Given the description of an element on the screen output the (x, y) to click on. 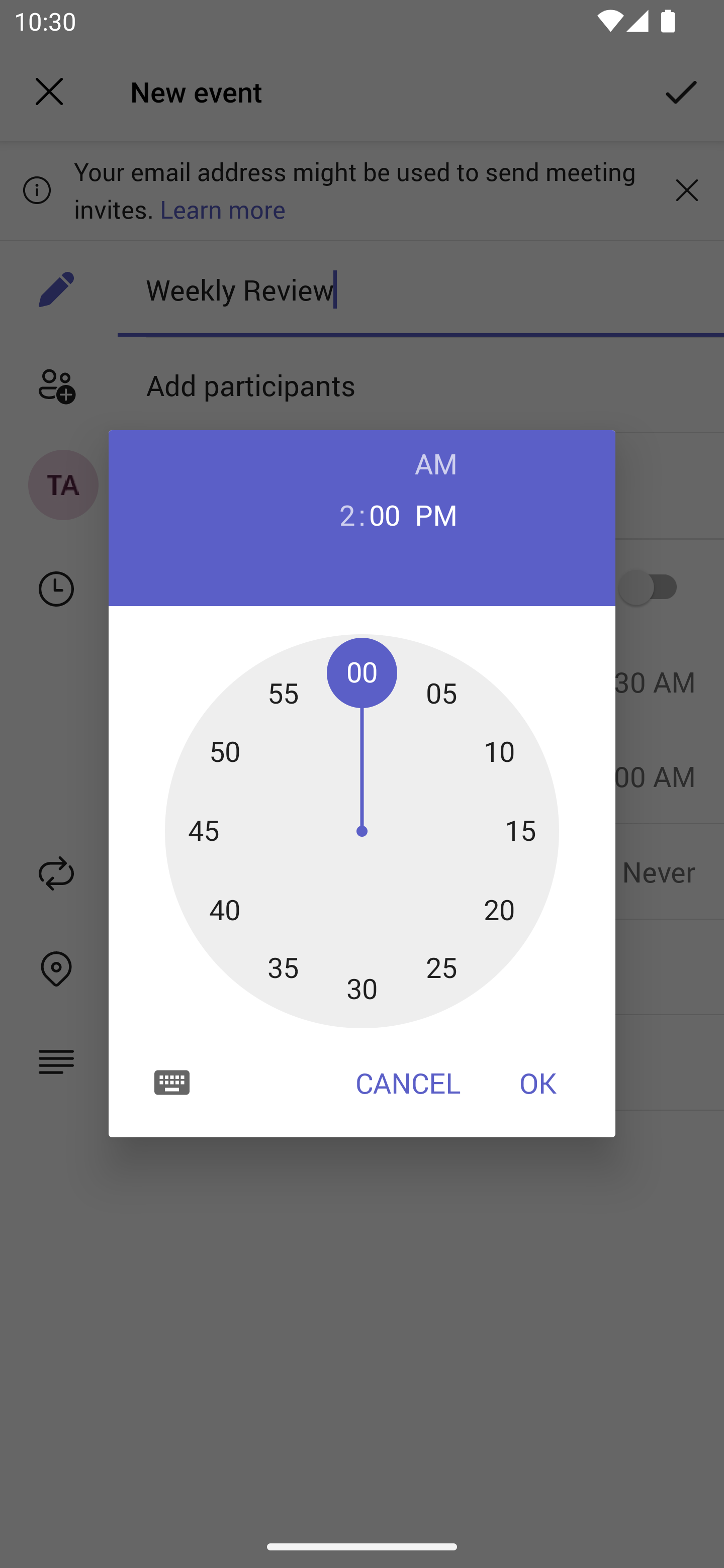
AM (435, 463)
PM (435, 514)
2 (338, 514)
00 (384, 514)
CANCEL (407, 1082)
OK (537, 1082)
Switch to text input mode for the time input. (171, 1081)
